Given the description of an element on the screen output the (x, y) to click on. 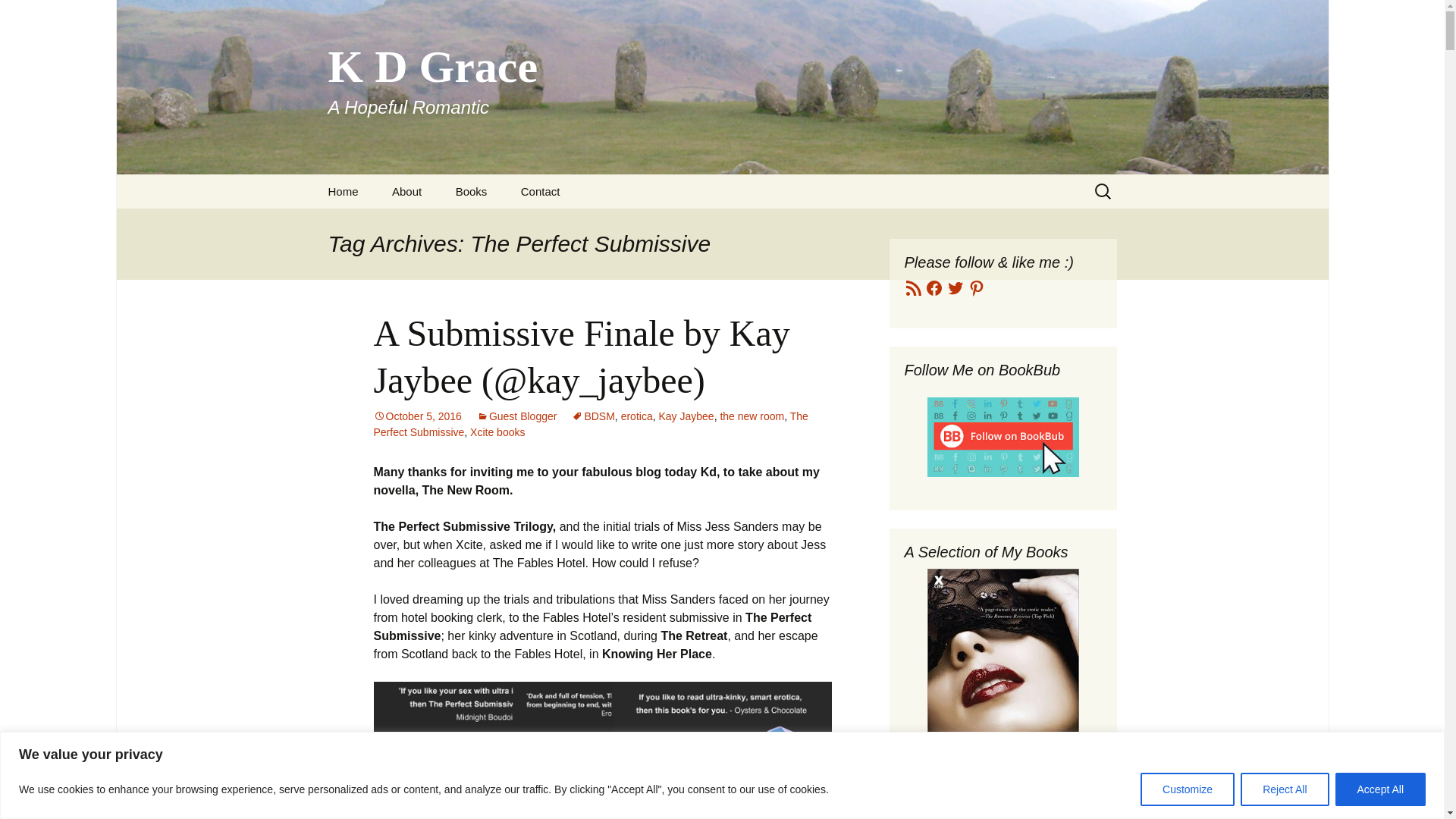
Reject All (1283, 788)
Contact (540, 191)
Home (342, 191)
About (406, 191)
Search (18, 15)
Guest Blogger (517, 416)
Kay Jaybee (685, 416)
the new room (751, 416)
The Perfect Submissive (590, 424)
erotica (636, 416)
October 5, 2016 (416, 416)
Customize (1187, 788)
Privacy Policy (452, 225)
